Given the description of an element on the screen output the (x, y) to click on. 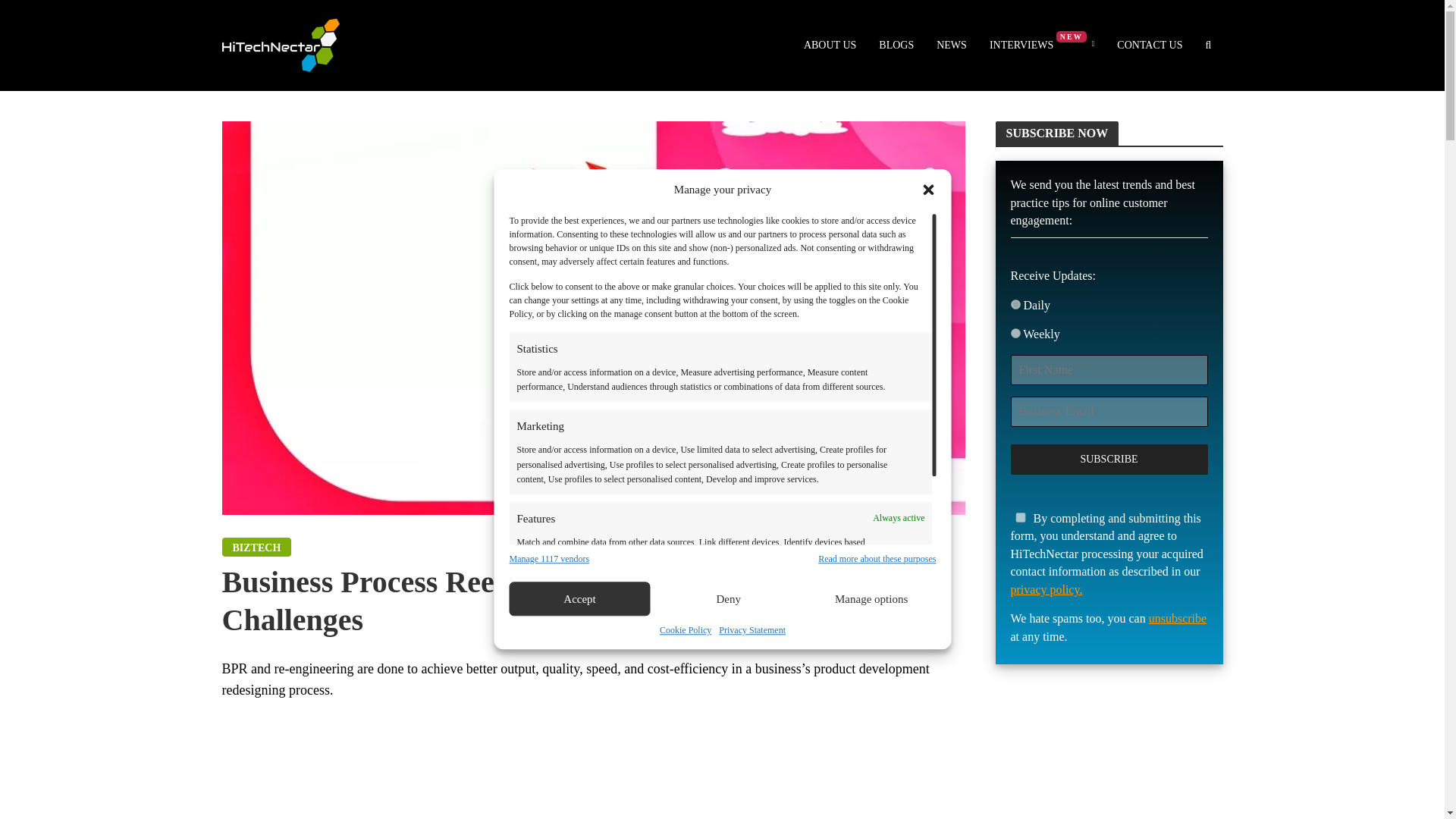
Manage 1117 vendors (548, 559)
Subscribe (1108, 459)
on (1015, 333)
NEWS (951, 45)
Privacy Statement (752, 630)
BLOGS (895, 45)
CONTACT US (1149, 45)
on (1019, 517)
Deny (727, 599)
INTERVIEWS NEW (1041, 45)
Cookie Policy (685, 630)
on (1015, 304)
Read more about these purposes (877, 559)
Manage options (871, 599)
Accept (578, 599)
